Given the description of an element on the screen output the (x, y) to click on. 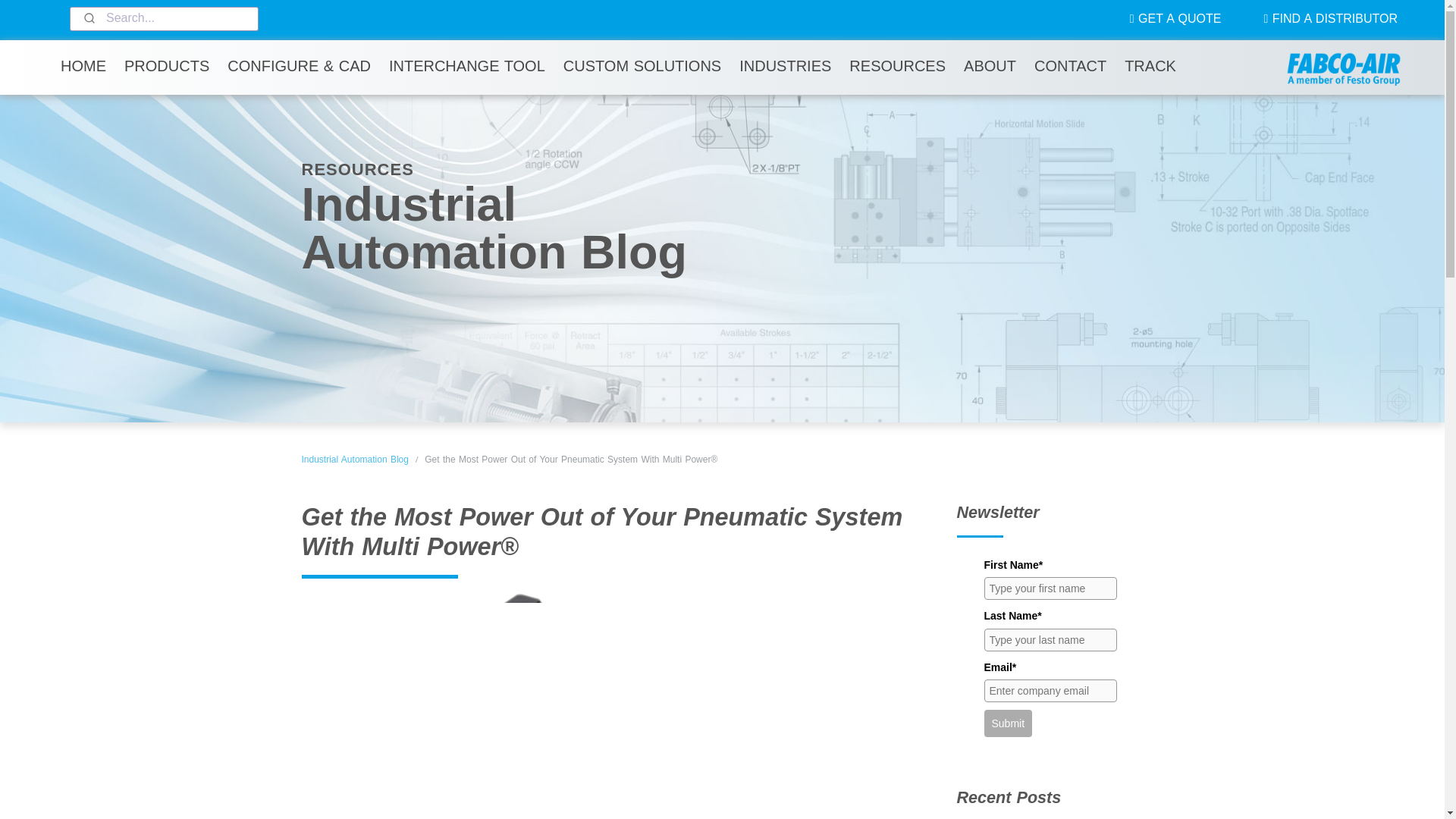
CUSTOM SOLUTIONS (642, 66)
GET A QUOTE (1175, 18)
RESOURCES (897, 66)
INTERCHANGE TOOL (467, 66)
ABOUT (990, 66)
PRODUCTS (166, 66)
HOME (82, 66)
Submit (87, 18)
CONTACT (1070, 66)
INDUSTRIES (785, 66)
